Given the description of an element on the screen output the (x, y) to click on. 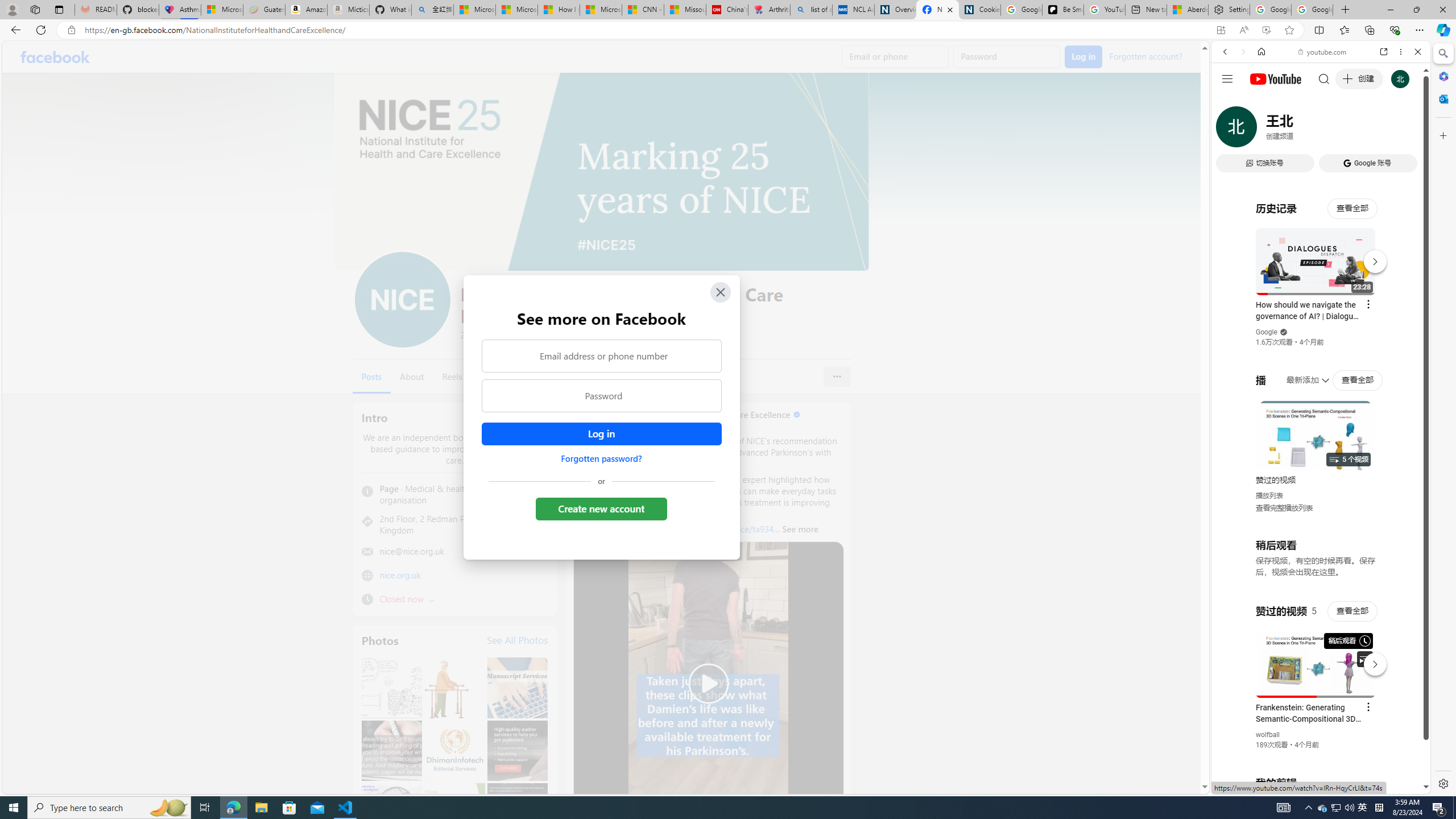
Class: b_serphb (1404, 130)
Forgotten account? (1145, 55)
Music (1320, 309)
